Given the description of an element on the screen output the (x, y) to click on. 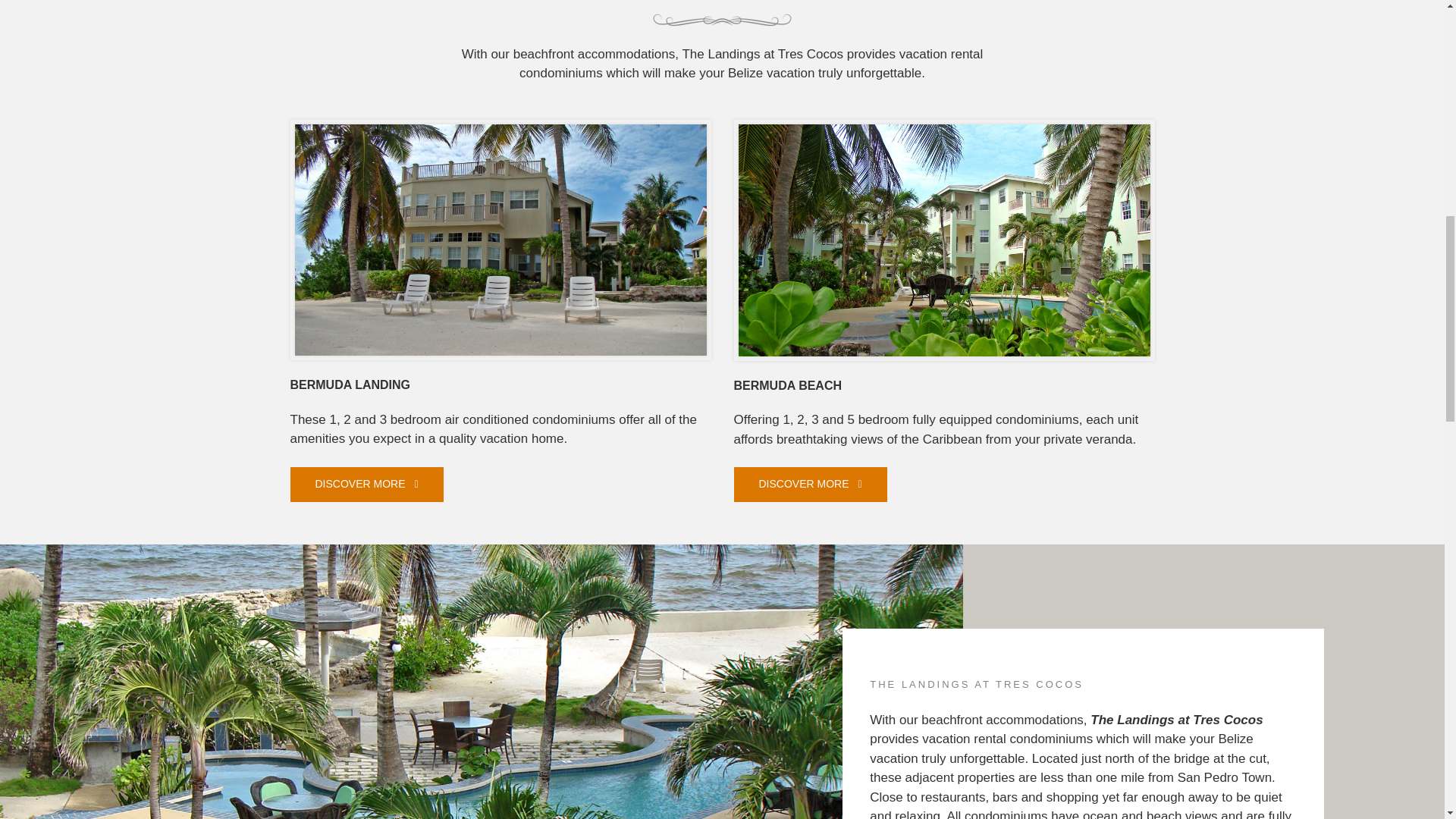
DISCOVER MORE (365, 484)
DISCOVER MORE (809, 484)
